Given the description of an element on the screen output the (x, y) to click on. 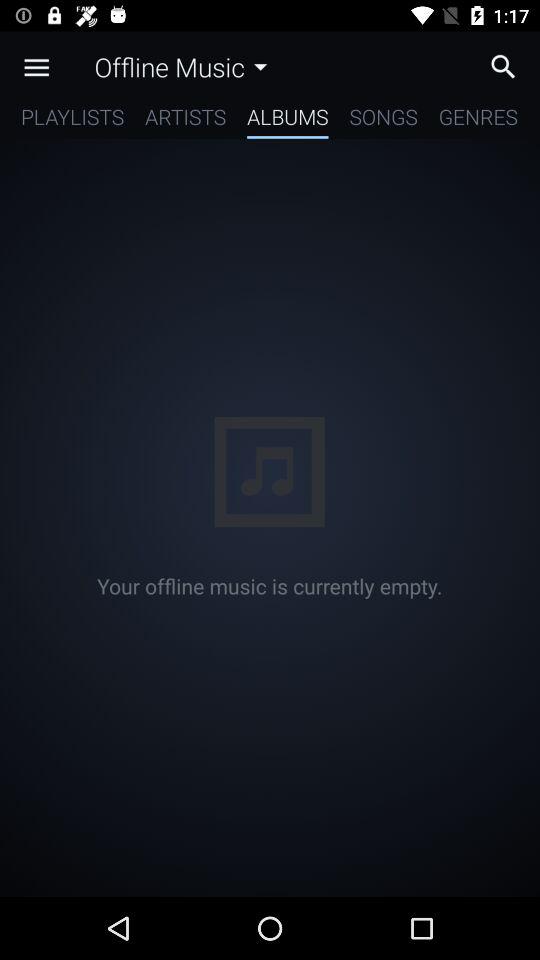
choose icon next to artists item (287, 120)
